Given the description of an element on the screen output the (x, y) to click on. 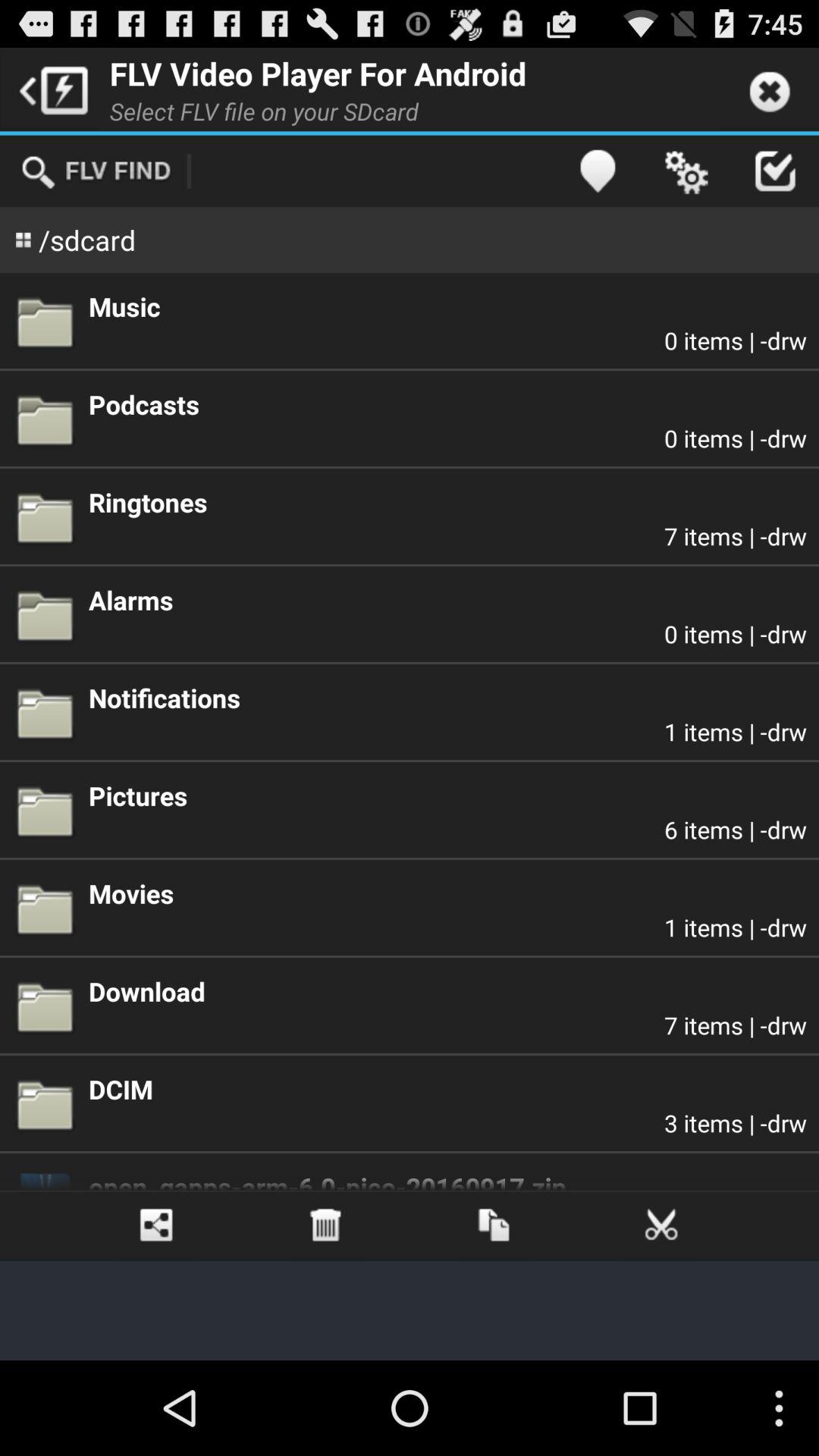
turn off the app below open_gapps arm 6 item (324, 1225)
